Given the description of an element on the screen output the (x, y) to click on. 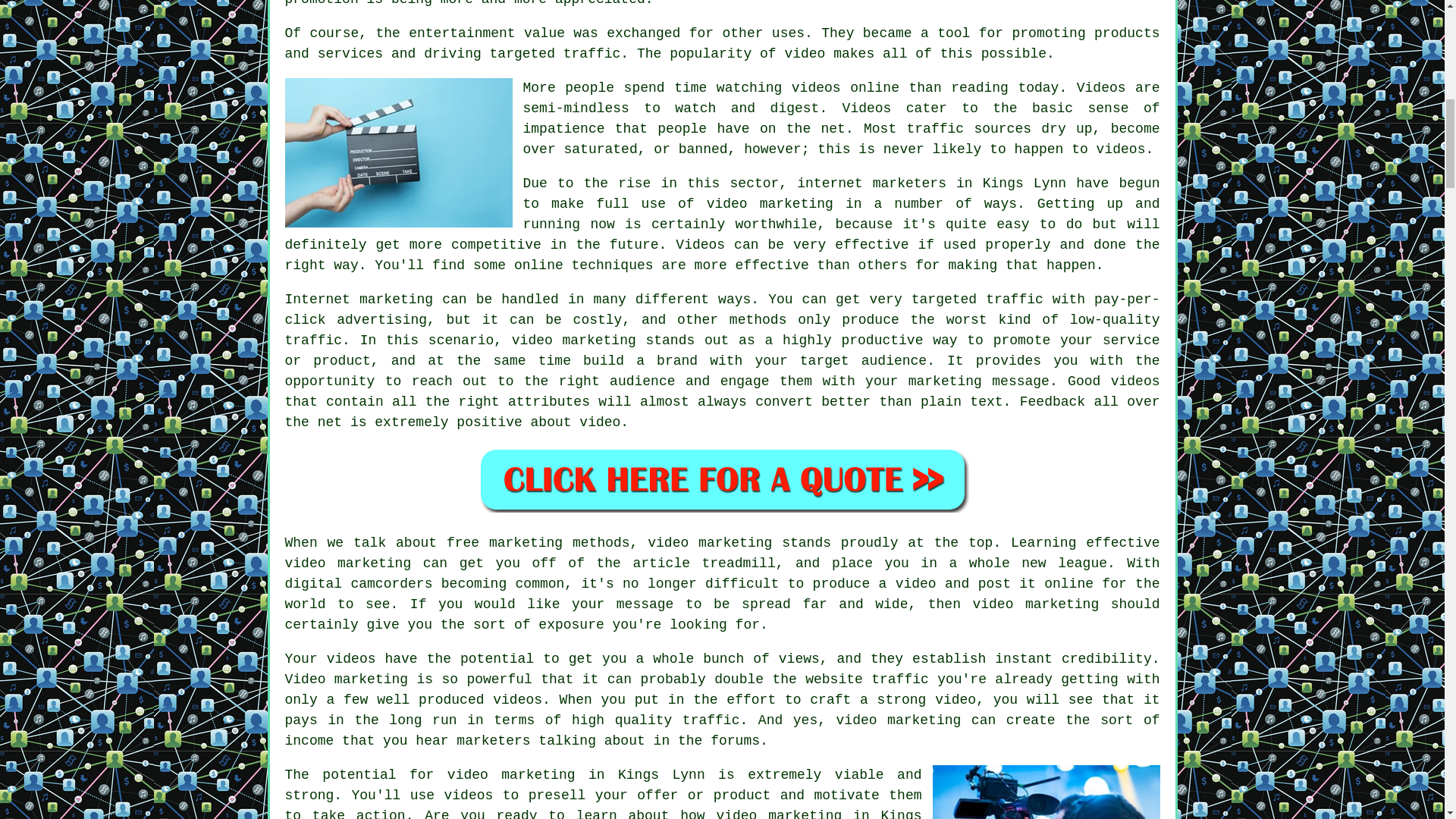
Video Production Quotes in Kings Lynn Norfolk (722, 479)
